Given the description of an element on the screen output the (x, y) to click on. 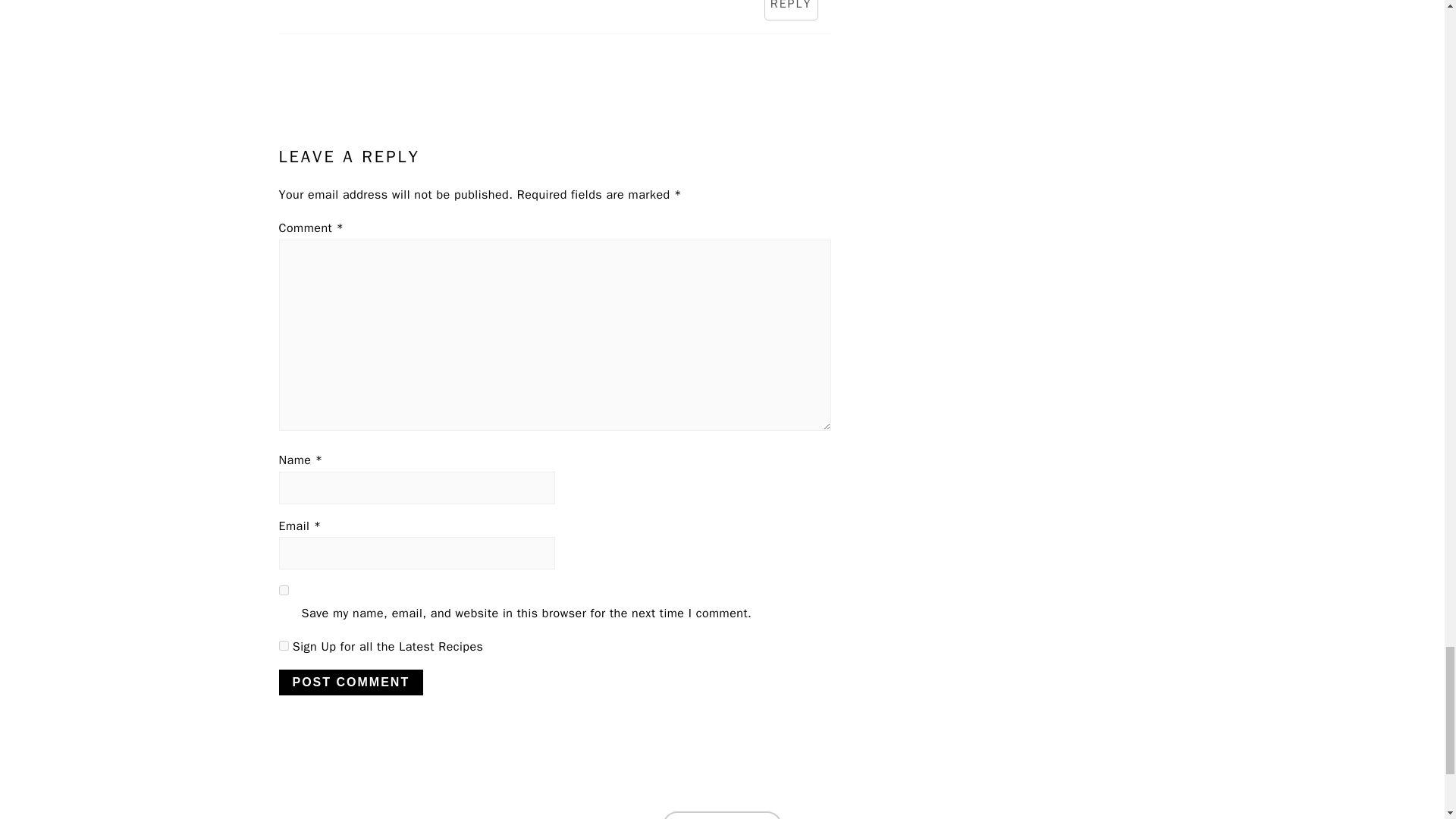
Post Comment (351, 682)
yes (283, 590)
1 (283, 645)
